Given the description of an element on the screen output the (x, y) to click on. 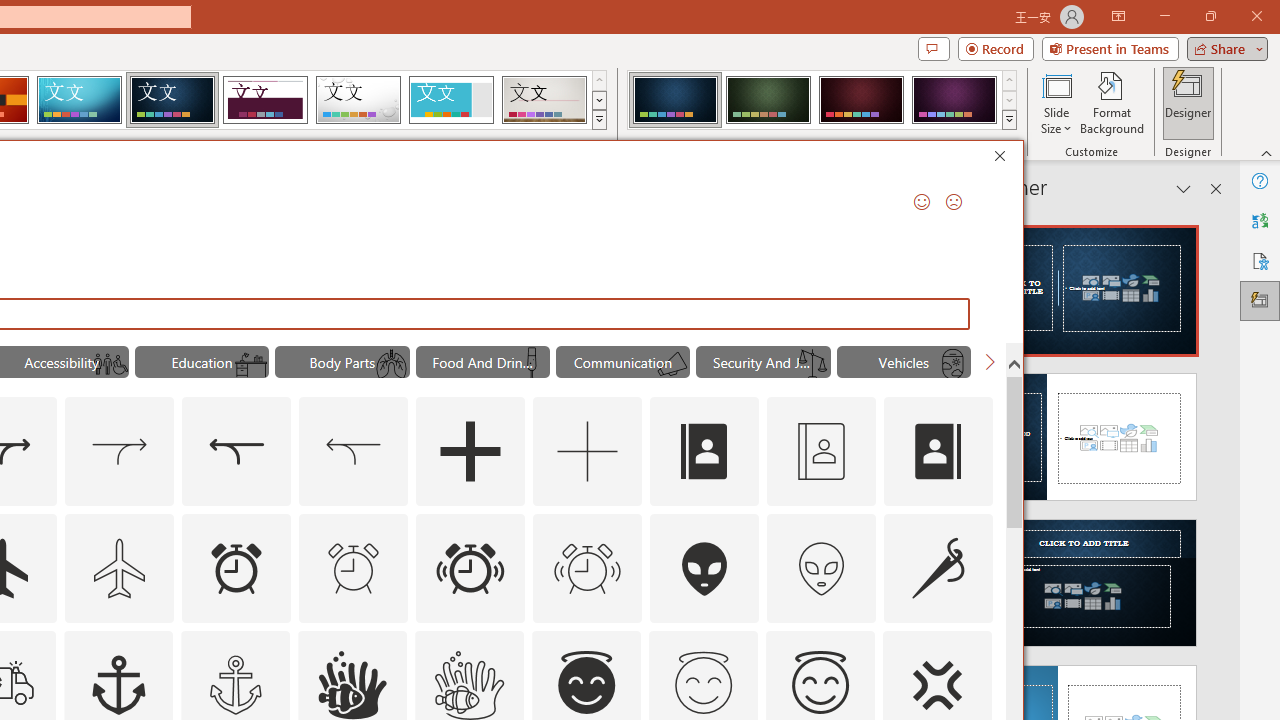
Damask (171, 100)
Damask Variant 1 (674, 100)
AutomationID: Icons_AlterationsTailoring (938, 568)
"Communication" Icons. (622, 362)
AutomationID: Icons_Add (470, 452)
AutomationID: Icons_AlarmClock_M (353, 568)
